Given the description of an element on the screen output the (x, y) to click on. 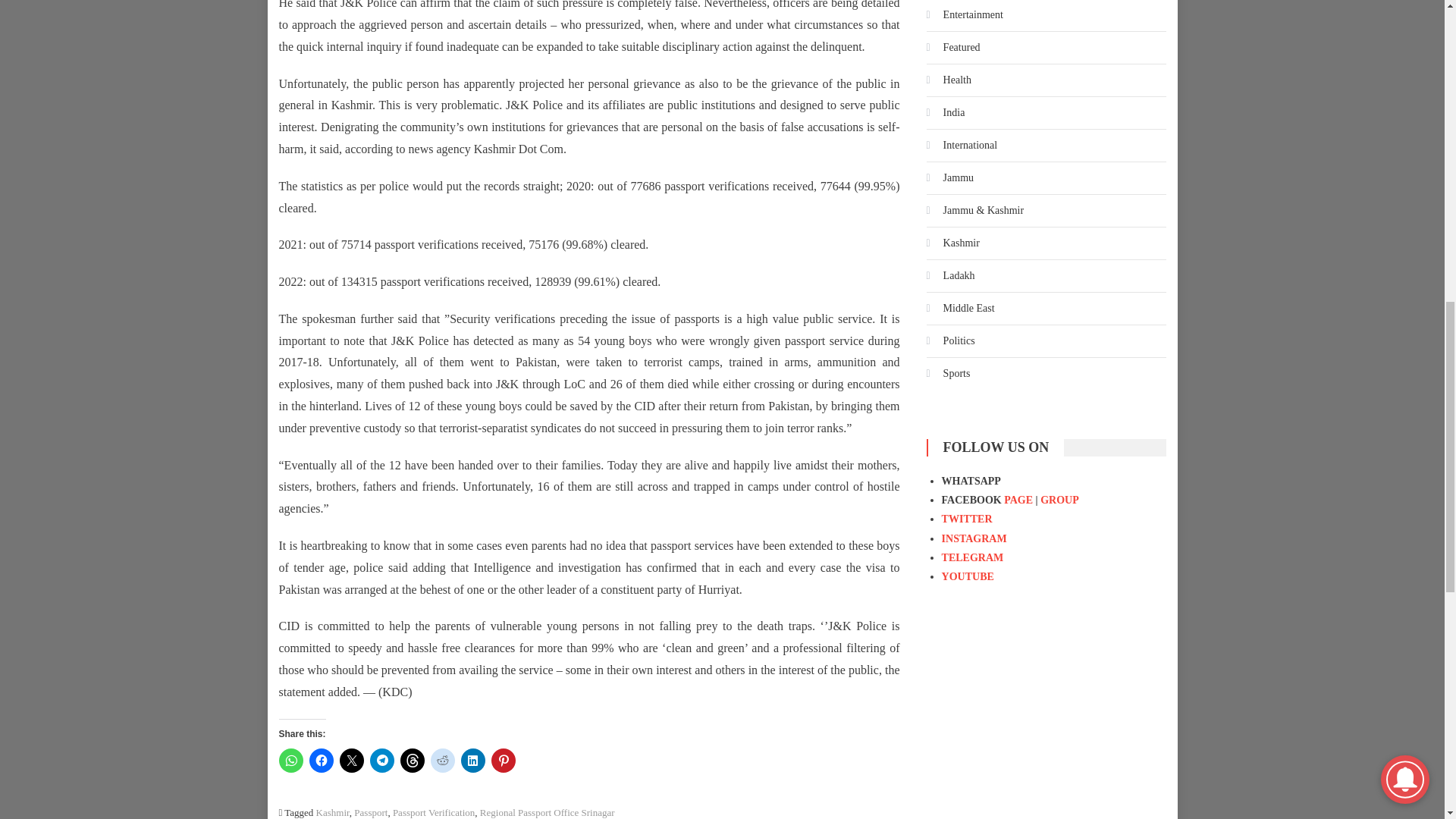
Click to share on Threads (412, 760)
Click to share on Facebook (320, 760)
Click to share on Pinterest (503, 760)
Click to share on WhatsApp (290, 760)
Kashmir (332, 812)
Passport (370, 812)
Click to share on Telegram (381, 760)
Click to share on Reddit (442, 760)
Click to share on LinkedIn (472, 760)
Click to share on X (351, 760)
